Given the description of an element on the screen output the (x, y) to click on. 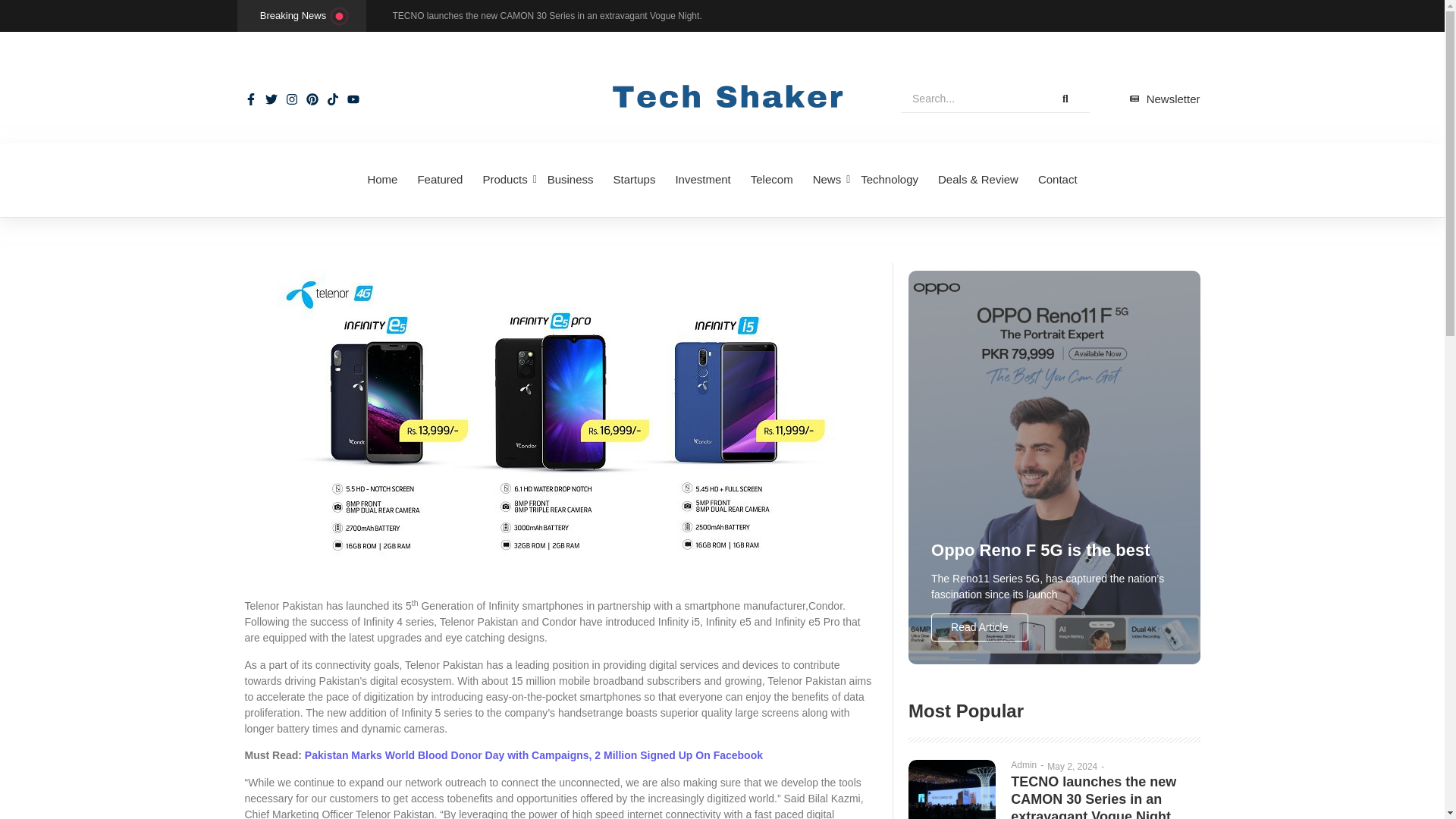
Home (382, 179)
Search (971, 99)
Products (504, 179)
Featured (439, 179)
Newsletter (1164, 99)
